Given the description of an element on the screen output the (x, y) to click on. 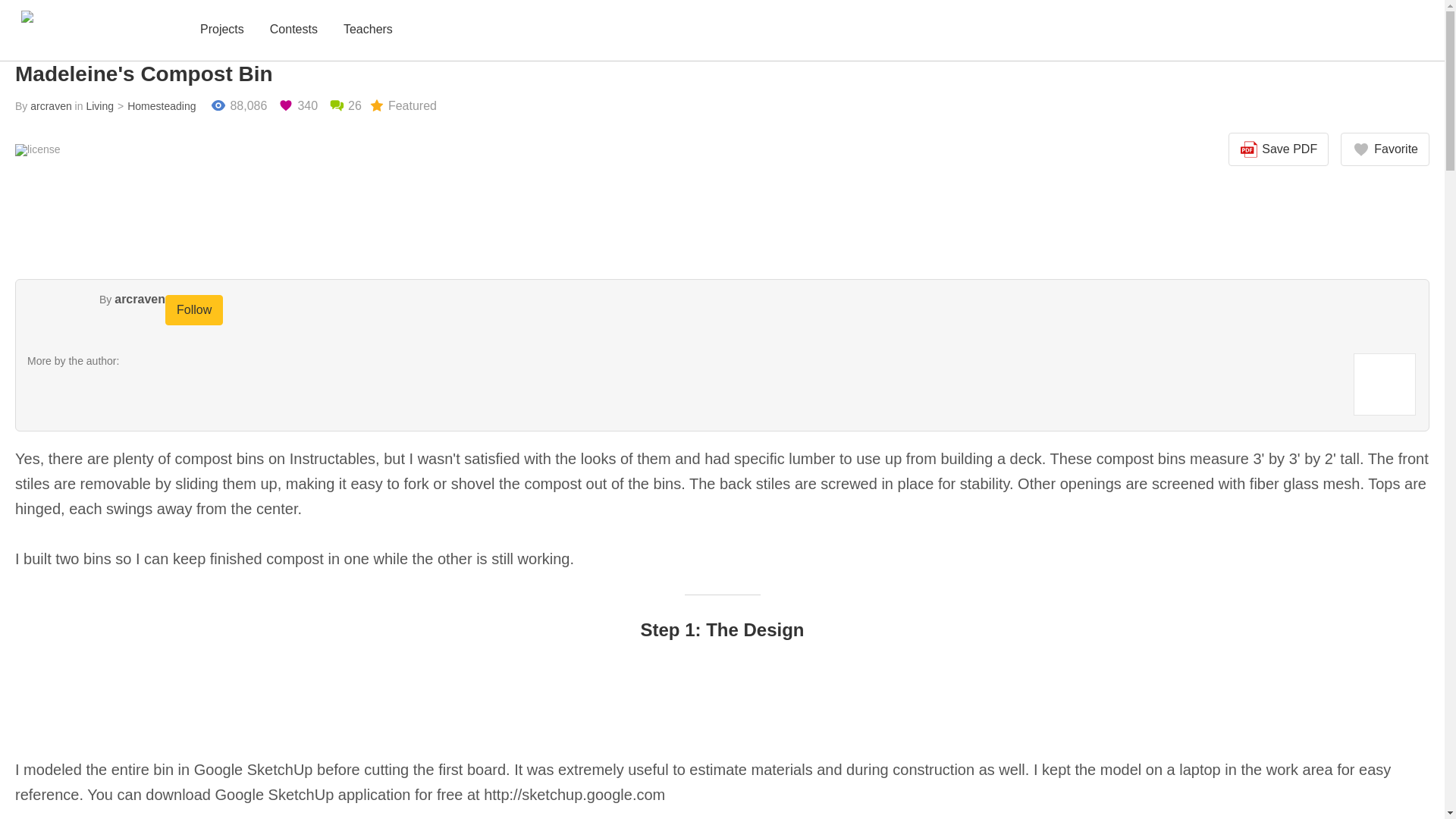
Homesteading (154, 105)
Favorite (1384, 149)
Save PDF (1277, 149)
arcraven (50, 105)
Projects (221, 30)
Living (99, 105)
26 (345, 106)
arcraven (140, 298)
Teachers (368, 30)
Follow (193, 309)
